Given the description of an element on the screen output the (x, y) to click on. 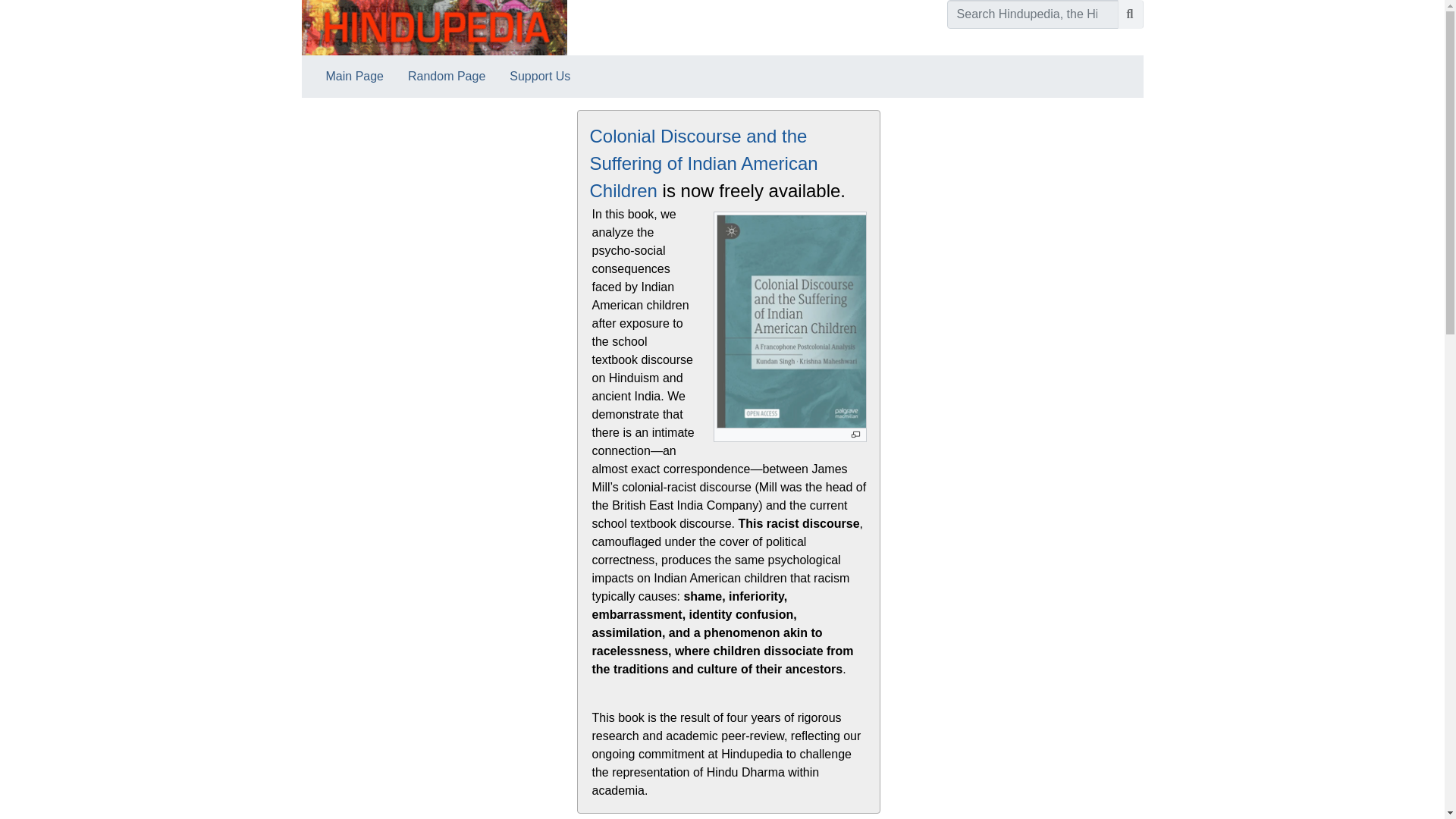
Support Us (539, 76)
Random Page (446, 76)
Go to a page with this exact name if it exists (1130, 14)
Enlarge (854, 434)
Go (1130, 14)
Visit the main page (434, 26)
Main Page (355, 76)
